Given the description of an element on the screen output the (x, y) to click on. 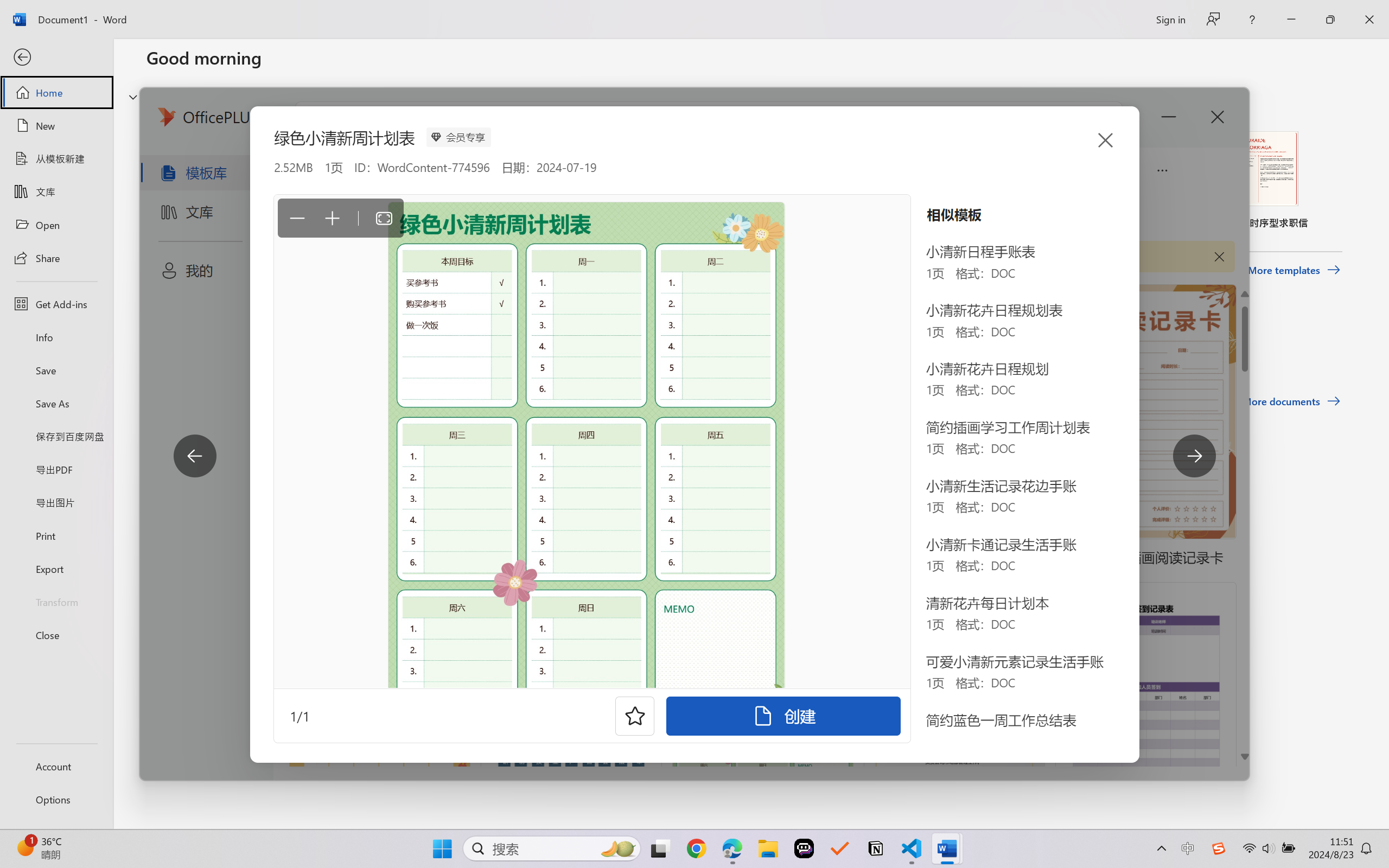
More templates (1293, 270)
More documents (1290, 401)
